Given the description of an element on the screen output the (x, y) to click on. 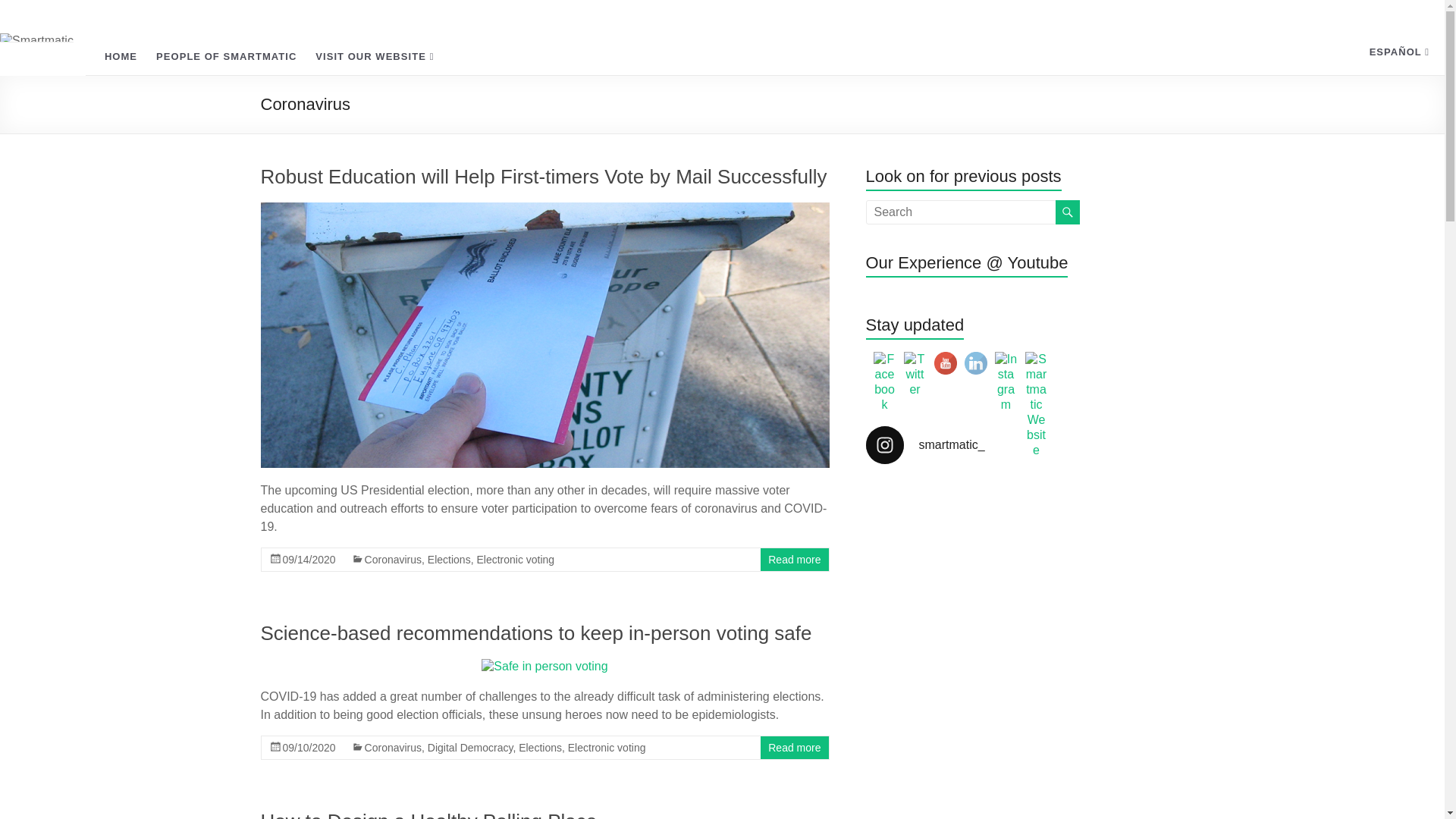
Science-based recommendations to keep in-person voting safe (544, 666)
Read more (794, 747)
Science-based recommendations to keep in-person voting safe (544, 666)
10:12 (308, 747)
Science-based recommendations to keep in-person voting safe (536, 632)
HOME (120, 56)
Science-based recommendations to keep in-person voting safe (536, 632)
Electronic voting (515, 559)
